Given the description of an element on the screen output the (x, y) to click on. 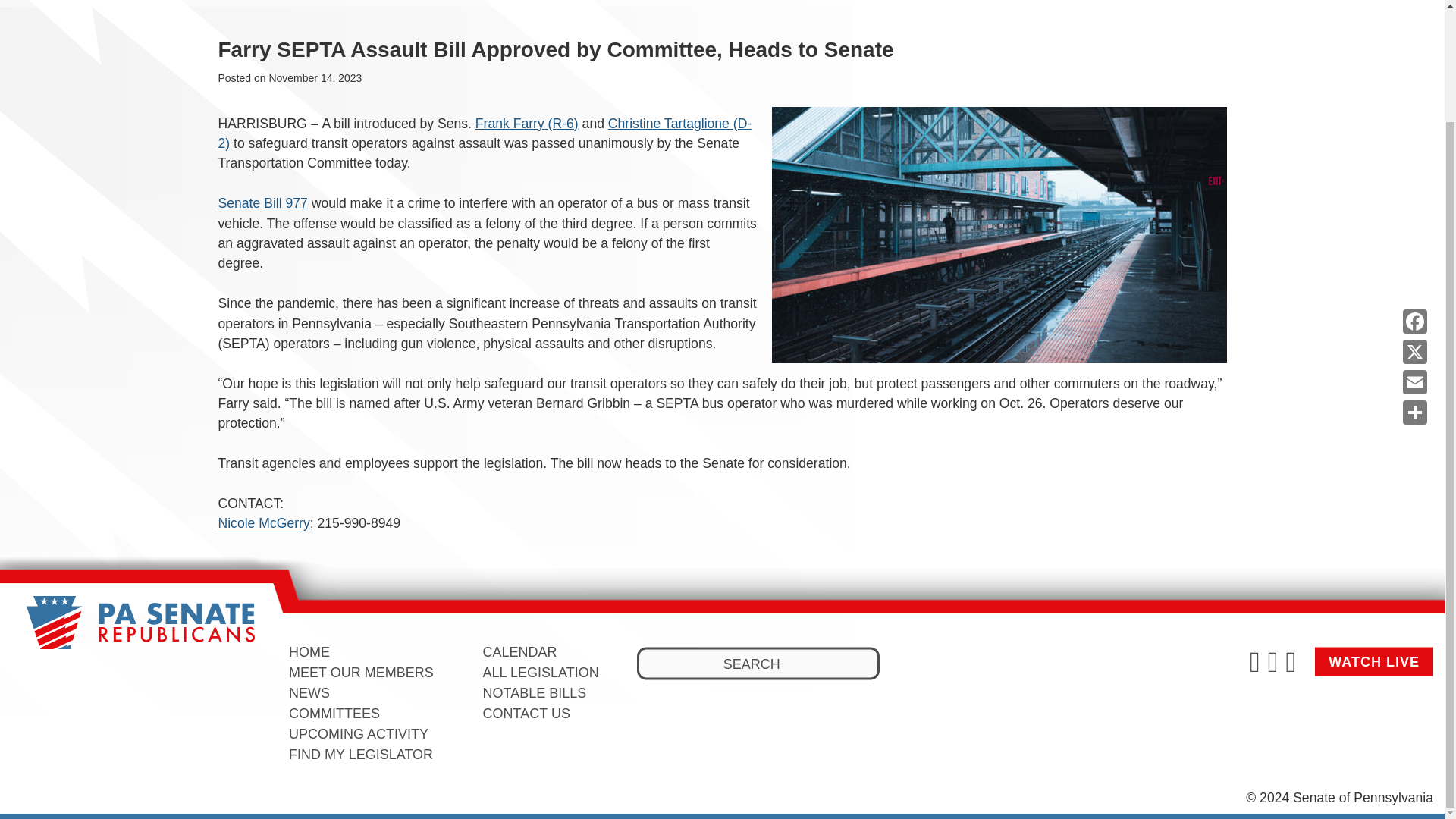
Facebook (1414, 188)
Email (1414, 249)
X (1414, 218)
Search for: (758, 663)
